Given the description of an element on the screen output the (x, y) to click on. 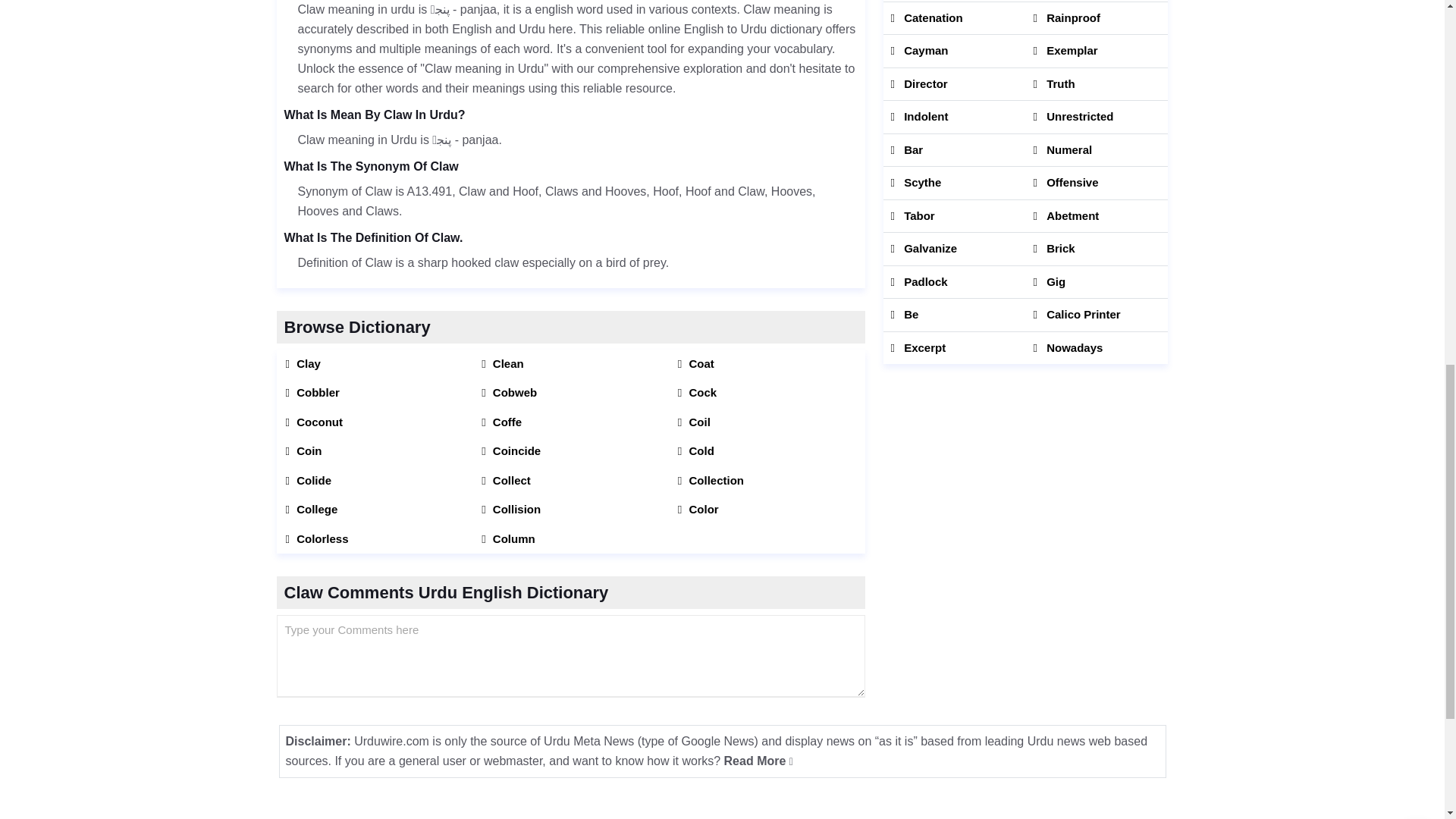
Cobbler (374, 392)
Cock (767, 392)
Hoof (665, 191)
Clean (570, 363)
Coconut (374, 422)
Cobweb (570, 392)
Coat (767, 363)
Clay (374, 363)
